Given the description of an element on the screen output the (x, y) to click on. 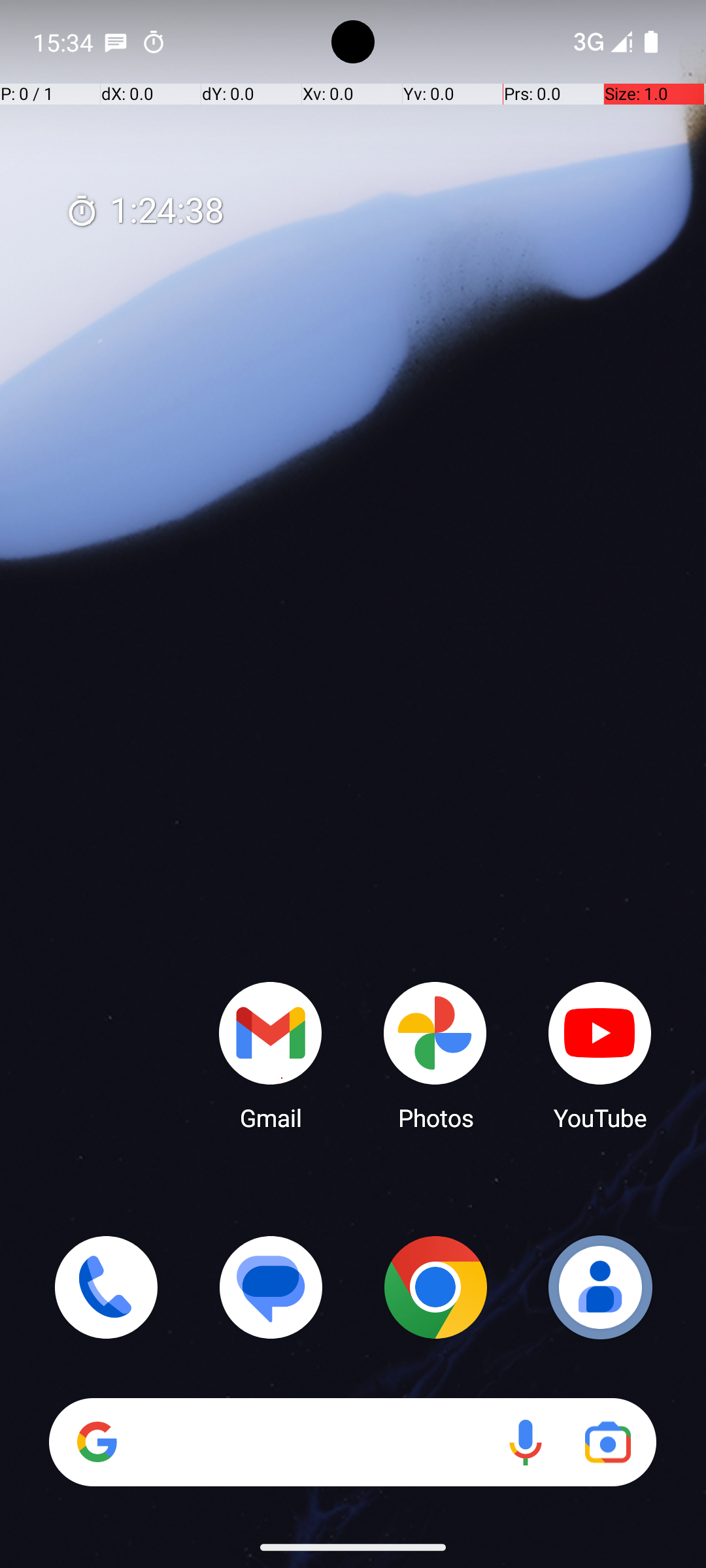
1:24:38 Element type: android.widget.TextView (144, 210)
